Given the description of an element on the screen output the (x, y) to click on. 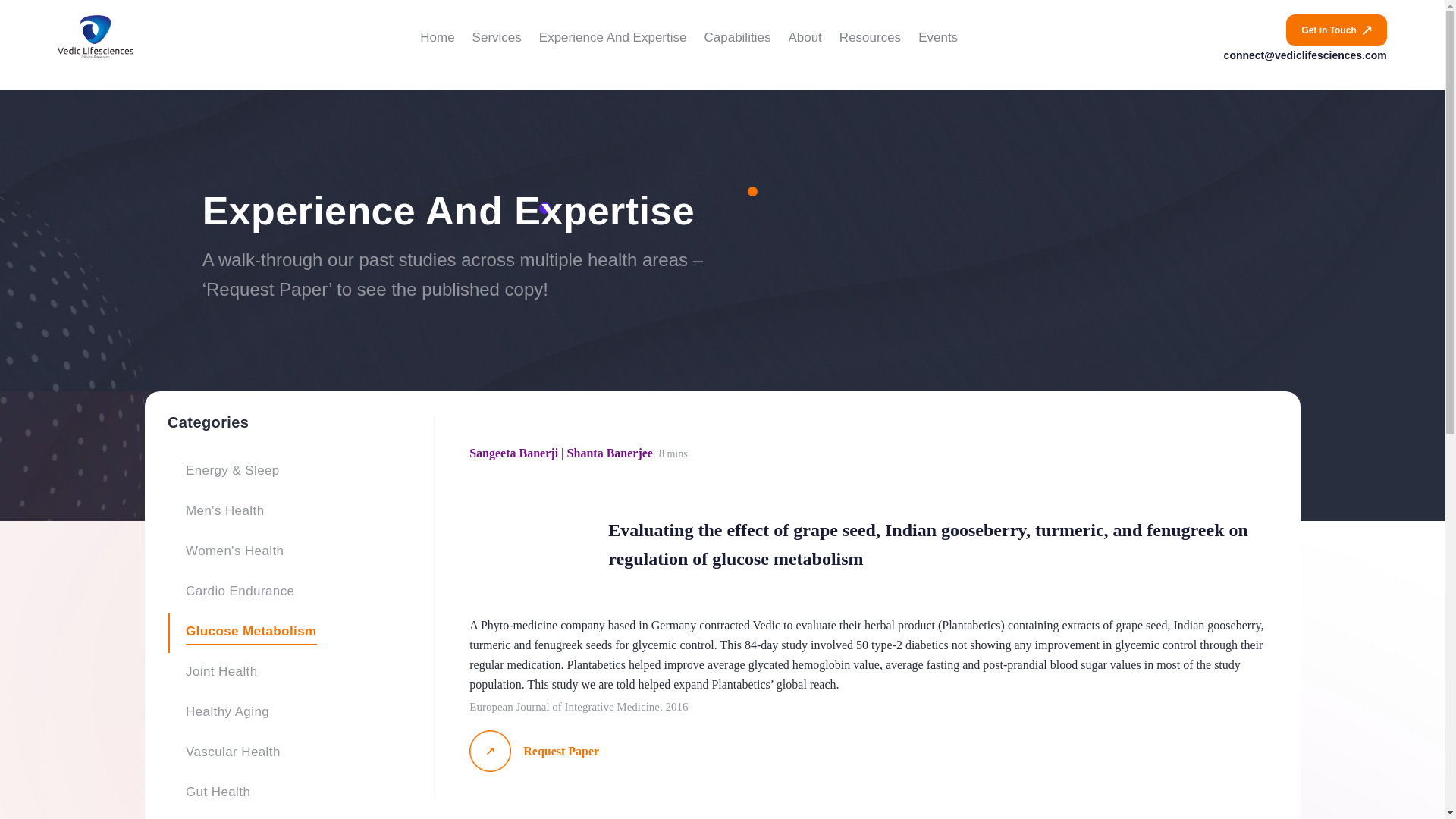
Resources (870, 38)
Cardio Endurance (240, 592)
Healthy Aging (227, 712)
Events (938, 38)
Gut Health (218, 793)
Experience And Expertise (612, 38)
Women's Health (234, 552)
Home (437, 38)
Capabilities (736, 38)
Services (496, 38)
Get in Touch (1335, 29)
Vascular Health (233, 753)
Glucose Metabolism (251, 632)
About (804, 38)
Request Paper (871, 751)
